Given the description of an element on the screen output the (x, y) to click on. 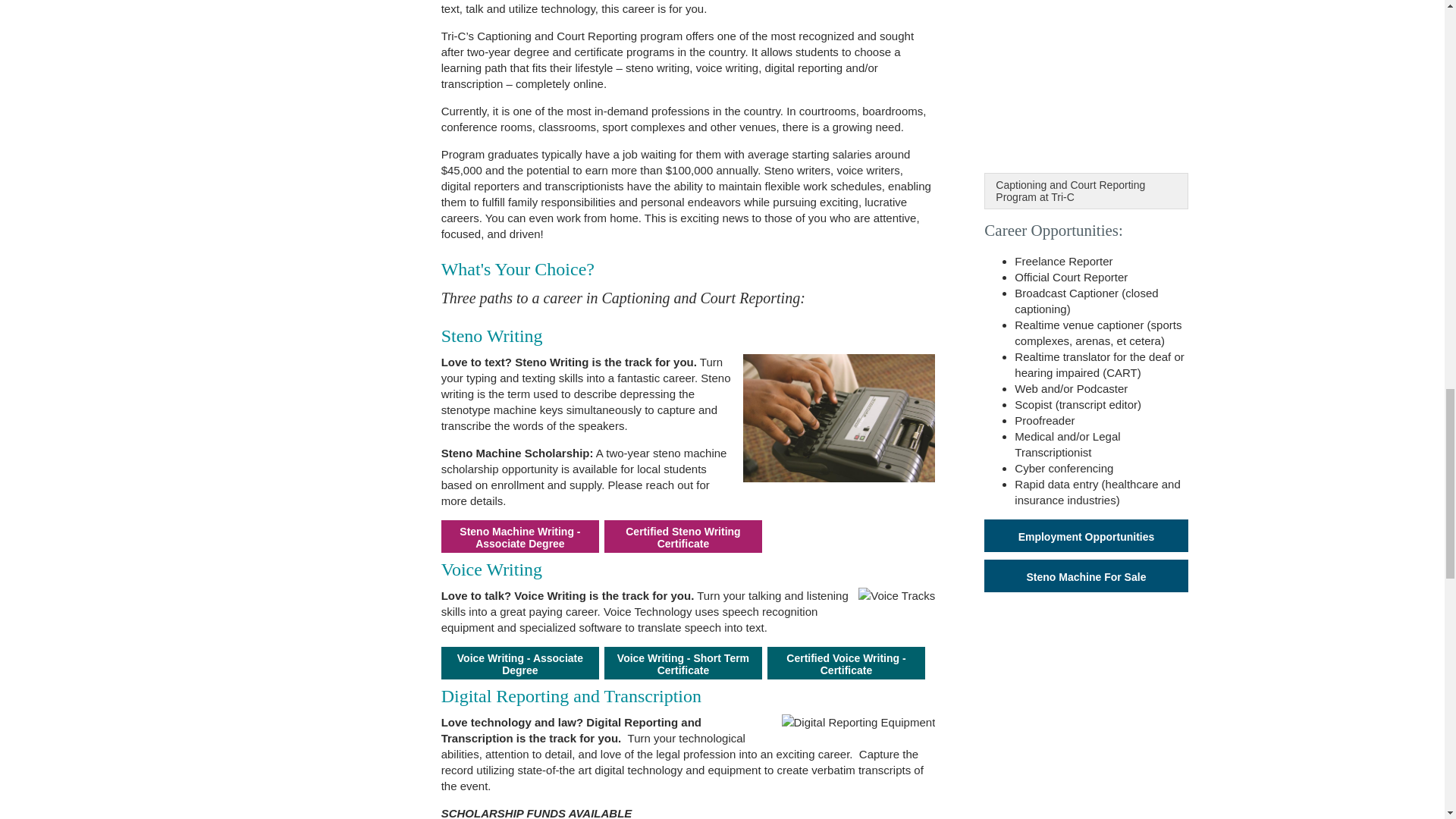
video (1173, 85)
